Given the description of an element on the screen output the (x, y) to click on. 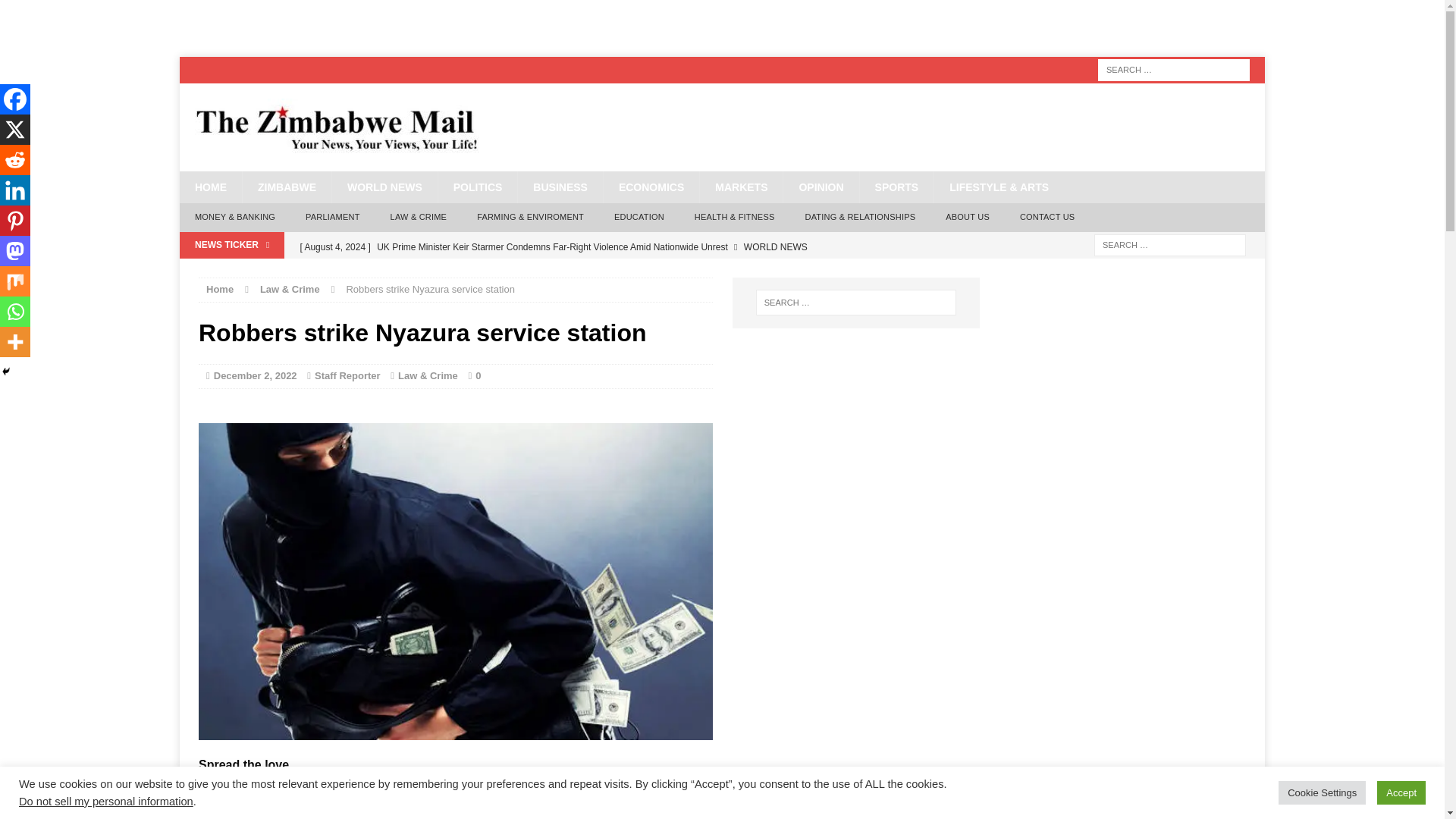
CONTACT US (1047, 217)
OPINION (821, 187)
PARLIAMENT (331, 217)
WORLD NEWS (384, 187)
Search (37, 11)
HOME (210, 187)
SPORTS (896, 187)
Mastodon (360, 789)
X (243, 789)
